Given the description of an element on the screen output the (x, y) to click on. 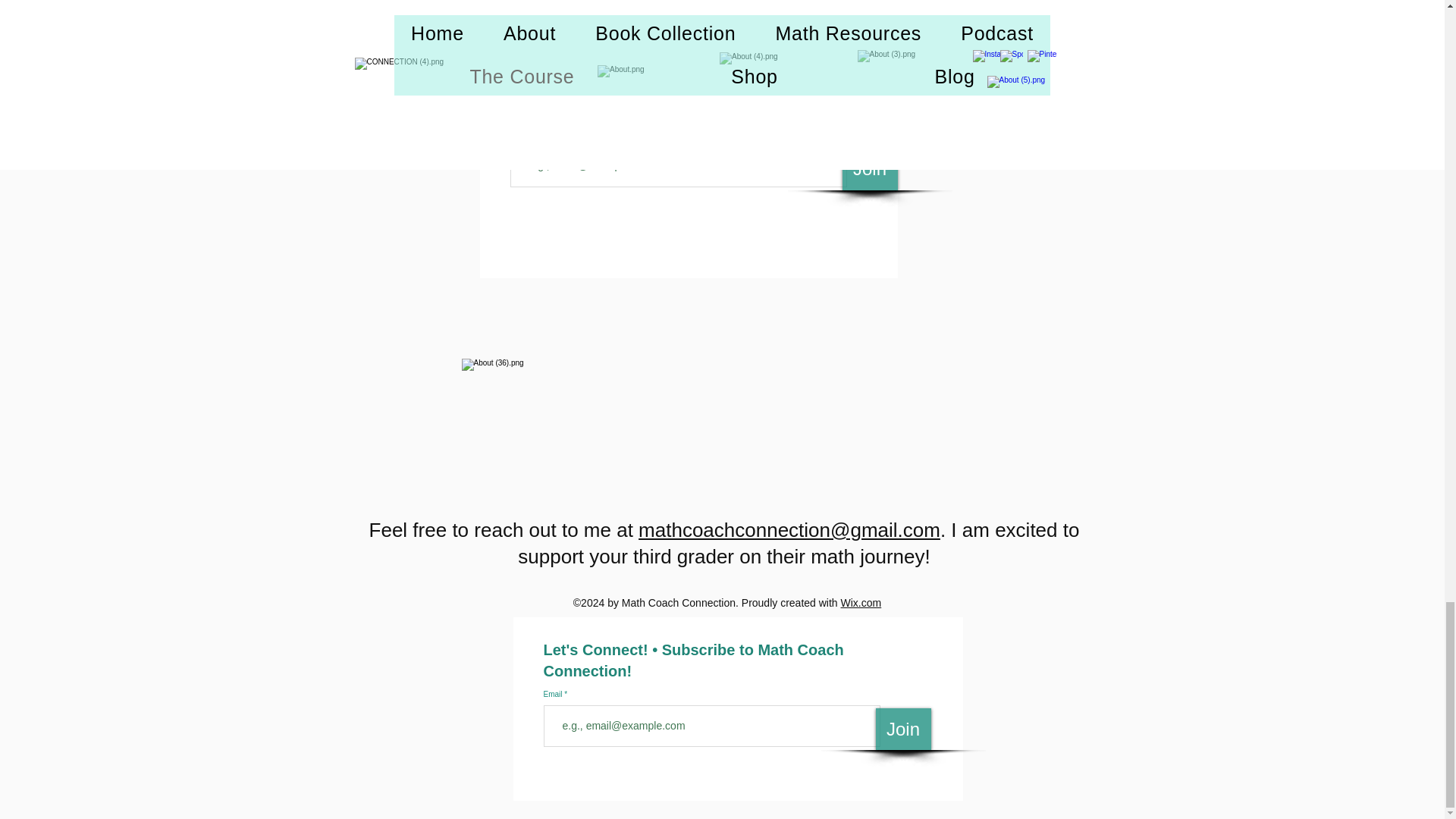
Join (902, 729)
Wix.com (861, 603)
Join (868, 168)
